Given the description of an element on the screen output the (x, y) to click on. 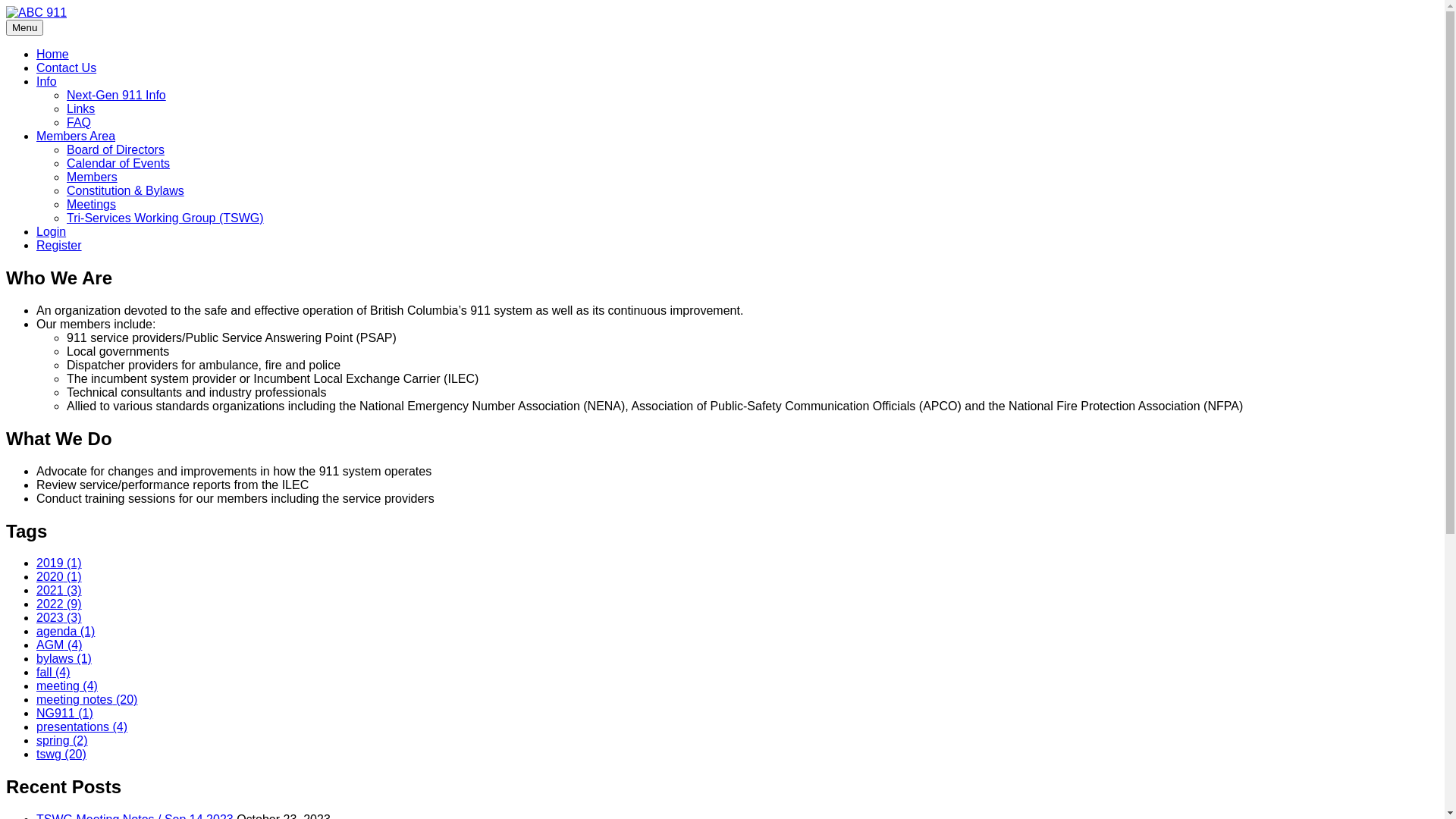
Members Element type: text (91, 176)
2021 (3) Element type: text (58, 589)
bylaws (1) Element type: text (63, 658)
Next-Gen 911 Info Element type: text (116, 94)
2020 (1) Element type: text (58, 576)
ABC 911 Element type: text (30, 37)
agenda (1) Element type: text (65, 630)
Login Element type: text (50, 231)
Links Element type: text (80, 108)
Meetings Element type: text (91, 203)
Menu Element type: text (24, 27)
Board of Directors Element type: text (115, 149)
Tri-Services Working Group (TSWG) Element type: text (164, 217)
2022 (9) Element type: text (58, 603)
fall (4) Element type: text (52, 671)
2023 (3) Element type: text (58, 617)
Contact Us Element type: text (66, 67)
Calendar of Events Element type: text (117, 162)
spring (2) Element type: text (61, 740)
Home Element type: text (52, 53)
NG911 (1) Element type: text (64, 712)
presentations (4) Element type: text (81, 726)
Constitution & Bylaws Element type: text (125, 190)
FAQ Element type: text (78, 122)
tswg (20) Element type: text (61, 753)
Skip to content Element type: text (5, 5)
AGM (4) Element type: text (58, 644)
meeting notes (20) Element type: text (86, 699)
2019 (1) Element type: text (58, 562)
Members Area Element type: text (75, 135)
meeting (4) Element type: text (66, 685)
Info Element type: text (46, 81)
Register Element type: text (58, 244)
